Given the description of an element on the screen output the (x, y) to click on. 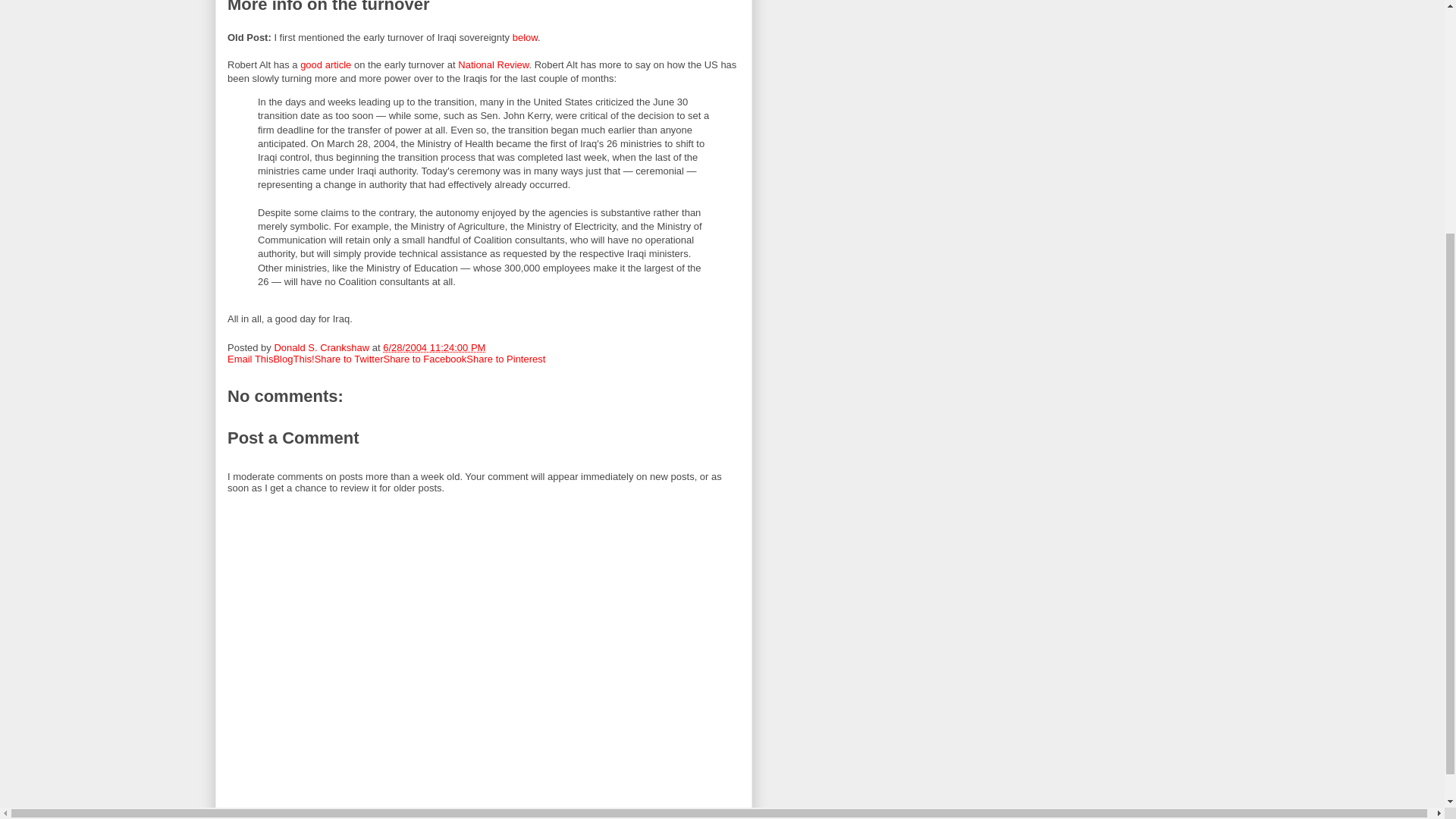
Share to Facebook (423, 358)
Share to Pinterest (504, 358)
below (524, 37)
author profile (322, 347)
permanent link (433, 347)
Share to Facebook (423, 358)
BlogThis! (293, 358)
BlogThis! (293, 358)
Email Post (494, 347)
Share to Twitter (349, 358)
Donald S. Crankshaw (322, 347)
good article (324, 64)
Share to Pinterest (504, 358)
Email This (250, 358)
Email This (250, 358)
